Given the description of an element on the screen output the (x, y) to click on. 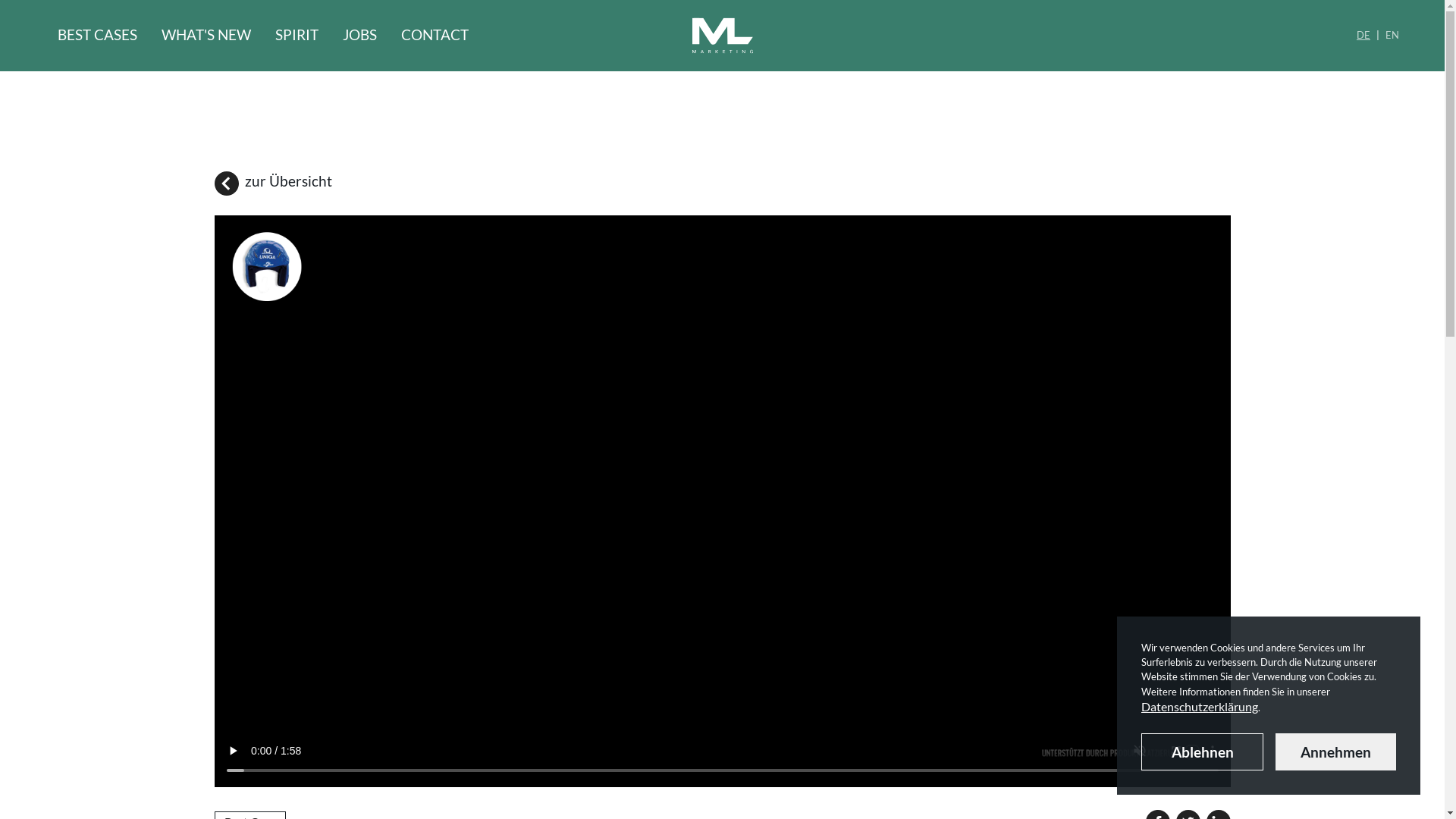
CONTACT Element type: text (434, 35)
EN Element type: text (1392, 35)
SPIRIT Element type: text (296, 35)
Ablehnen Element type: text (1202, 751)
JOBS Element type: text (359, 35)
WHAT'S NEW Element type: text (206, 35)
Annehmen Element type: text (1335, 751)
DE Element type: text (1363, 35)
BEST CASES Element type: text (97, 35)
